Given the description of an element on the screen output the (x, y) to click on. 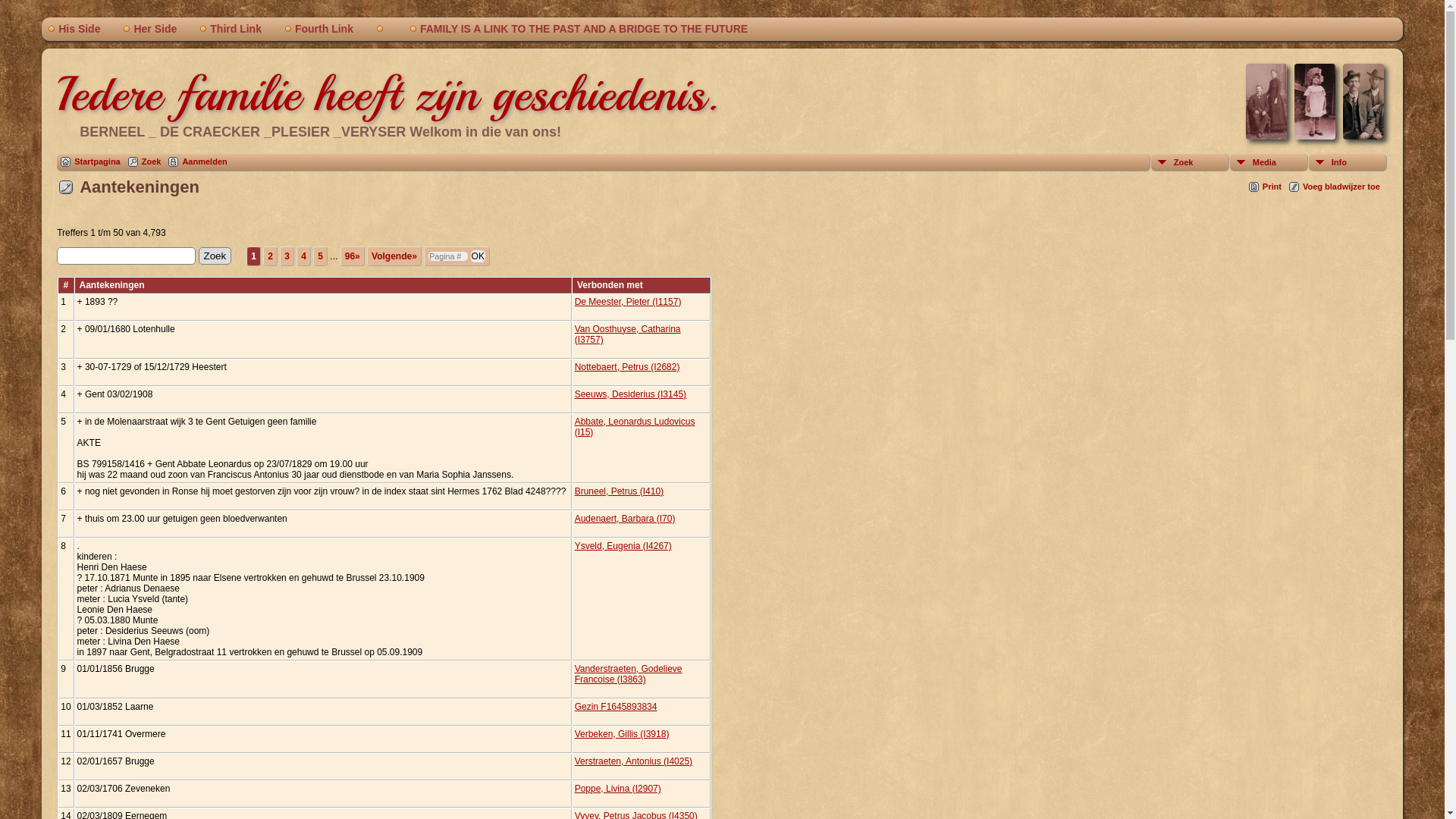
Van Oosthuyse, Catharina (I3757) Element type: text (627, 334)
Her Side Element type: text (154, 28)
Vanderstraeten, Godelieve Francoise (I3863) Element type: text (628, 673)
Poppe, Livina (I2907) Element type: text (617, 788)
Gezin F1645893834 Element type: text (615, 706)
Abbate, Leonardus Ludovicus (I15) Element type: text (634, 426)
5 Element type: text (320, 256)
Third Link Element type: text (235, 28)
Voeg bladwijzer toe Element type: text (1334, 187)
Info Element type: text (1347, 162)
Iedere familie heeft zijn geschiedenis. Element type: text (387, 93)
Fourth Link Element type: text (324, 28)
Verstraeten, Antonius (I4025) Element type: text (633, 761)
FAMILY IS A LINK TO THE PAST AND A BRIDGE TO THE FUTURE Element type: text (583, 28)
Nottebaert, Petrus (I2682) Element type: text (627, 366)
Bruneel, Petrus (I410) Element type: text (618, 491)
Print Element type: text (1264, 187)
Aanmelden Element type: text (197, 162)
2 Element type: text (270, 256)
3 Element type: text (286, 256)
Verbeken, Gillis (I3918) Element type: text (621, 733)
Audenaert, Barbara (I70) Element type: text (624, 518)
Zoek Element type: text (215, 255)
Zoek Element type: text (1190, 162)
Zoek Element type: text (144, 162)

 Element type: hover (386, 28)
Seeuws, Desiderius (I3145) Element type: text (630, 394)
Media Element type: text (1269, 162)
His Side Element type: text (78, 28)
Startpagina Element type: text (90, 162)
Ysveld, Eugenia (I4267) Element type: text (622, 545)
De Meester, Pieter (I1157) Element type: text (627, 301)
OK Element type: text (477, 256)
4 Element type: text (303, 256)
